Given the description of an element on the screen output the (x, y) to click on. 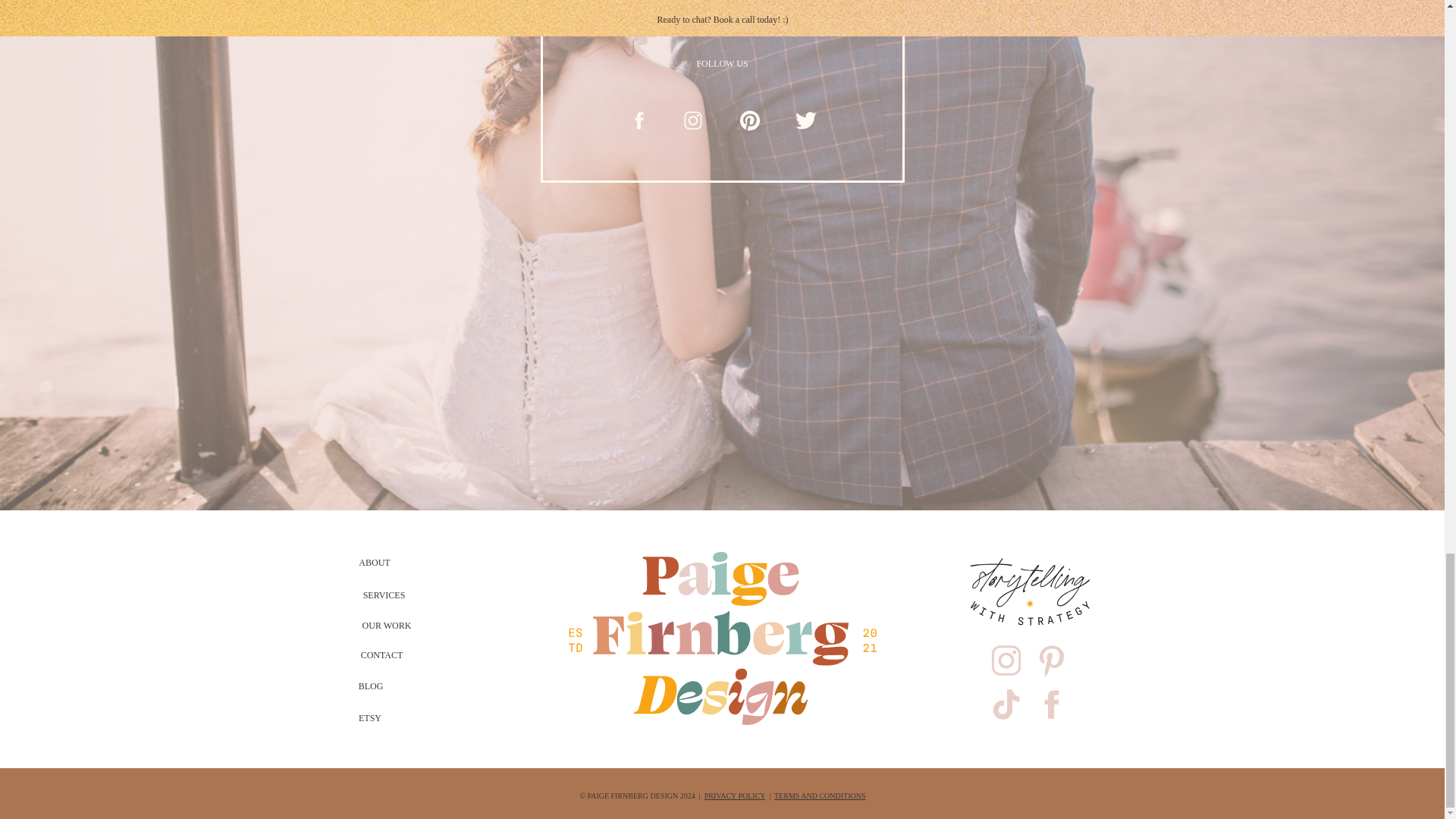
OUR WORK (386, 623)
ABOUT (374, 561)
CONTACT (381, 653)
ETSY (369, 716)
SERVICES (383, 593)
BLOG (370, 684)
PRIVACY POLICY (734, 795)
TERMS AND CONDITIONS (820, 795)
